Given the description of an element on the screen output the (x, y) to click on. 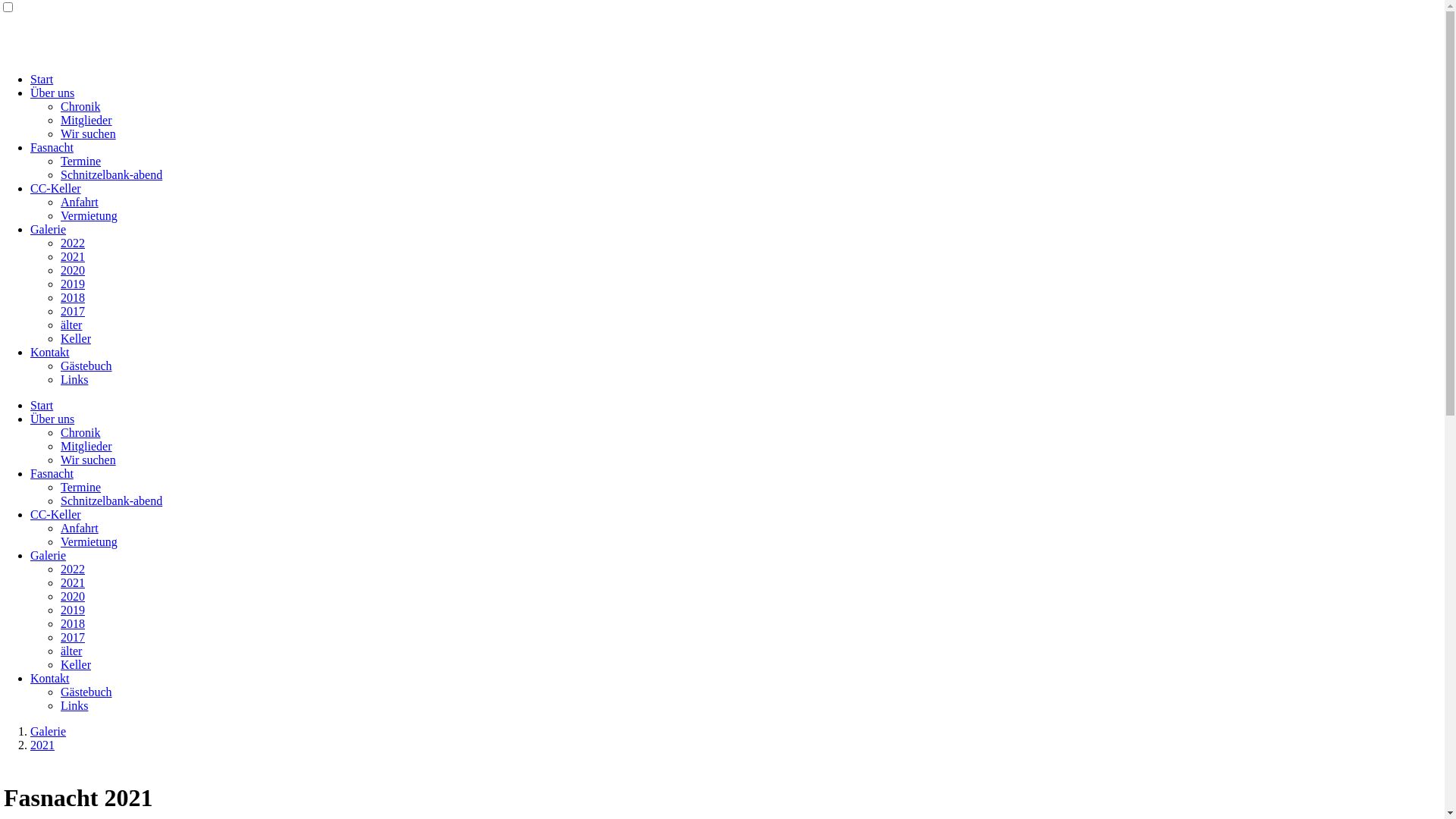
Keller Element type: text (75, 664)
2018 Element type: text (72, 623)
Schnitzelbank-abend Element type: text (111, 174)
2020 Element type: text (72, 269)
Wir suchen Element type: text (88, 459)
Kontakt Element type: text (49, 351)
Galerie Element type: text (47, 228)
2018 Element type: text (72, 297)
Galerie Element type: text (47, 555)
Links Element type: text (73, 379)
Fasnacht Element type: text (51, 473)
Anfahrt Element type: text (79, 201)
Start Element type: text (41, 404)
Anfahrt Element type: text (79, 527)
Chronik Element type: text (80, 432)
2021 Element type: text (42, 744)
Termine Element type: text (80, 160)
2021 Element type: text (72, 582)
2020 Element type: text (72, 595)
Termine Element type: text (80, 486)
Galerie Element type: text (47, 730)
Vermietung Element type: text (88, 541)
CC-Keller Element type: text (55, 514)
Mitglieder Element type: text (86, 119)
Schnitzelbank-abend Element type: text (111, 500)
Vermietung Element type: text (88, 215)
CC-Keller Element type: text (55, 188)
Fasnacht Element type: text (51, 147)
2022 Element type: text (72, 568)
2019 Element type: text (72, 609)
Kontakt Element type: text (49, 677)
2019 Element type: text (72, 283)
Keller Element type: text (75, 338)
Wir suchen Element type: text (88, 133)
Links Element type: text (73, 705)
2017 Element type: text (72, 310)
Mitglieder Element type: text (86, 445)
2017 Element type: text (72, 636)
2021 Element type: text (72, 256)
Chronik Element type: text (80, 106)
Start Element type: text (41, 78)
2022 Element type: text (72, 242)
